Given the description of an element on the screen output the (x, y) to click on. 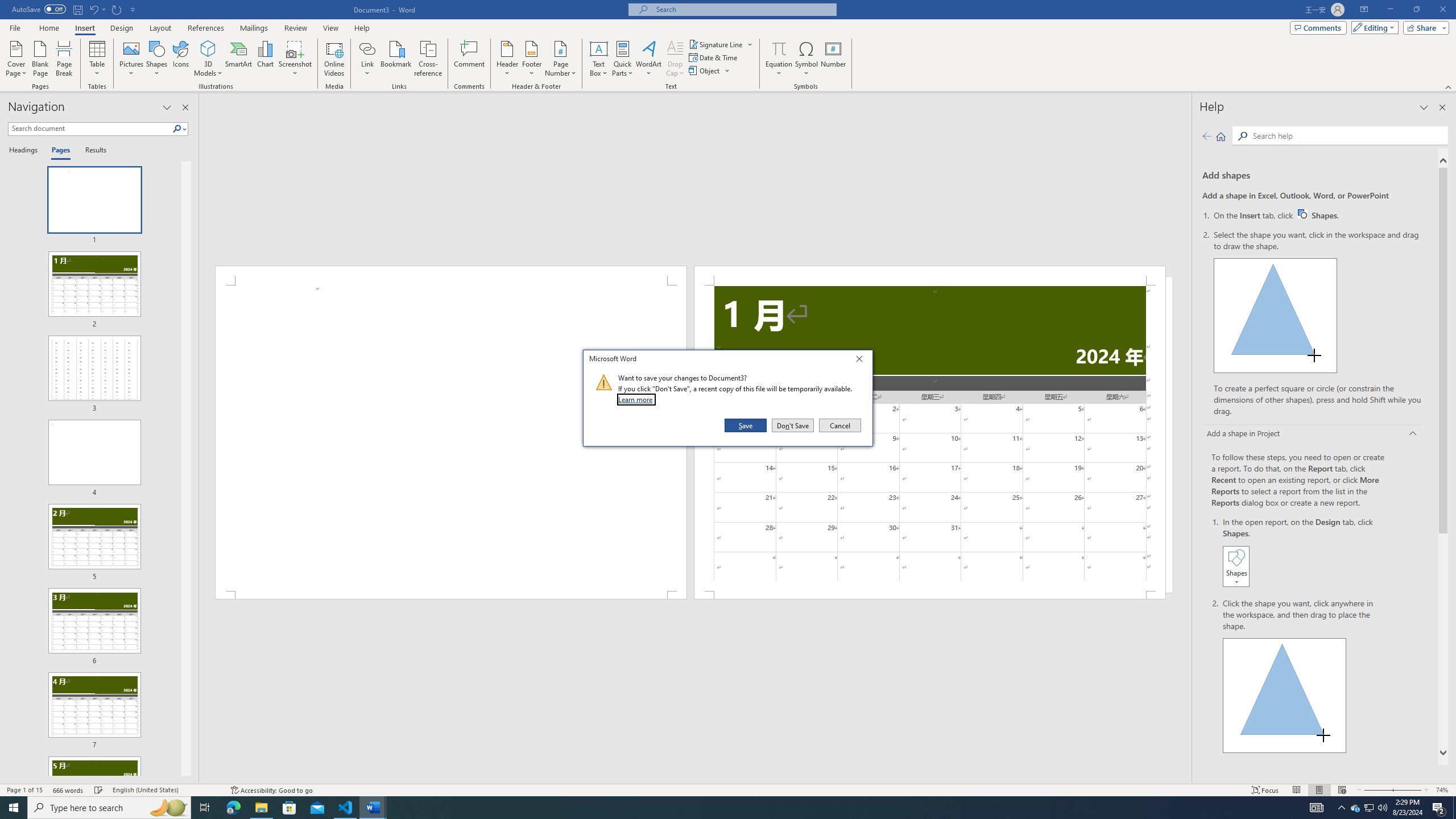
Bookmark... (396, 58)
Shapes (156, 58)
Footer (531, 58)
File Explorer - 1 running window (261, 807)
Drop Cap (674, 58)
Chart... (265, 58)
Learn more (636, 399)
